Given the description of an element on the screen output the (x, y) to click on. 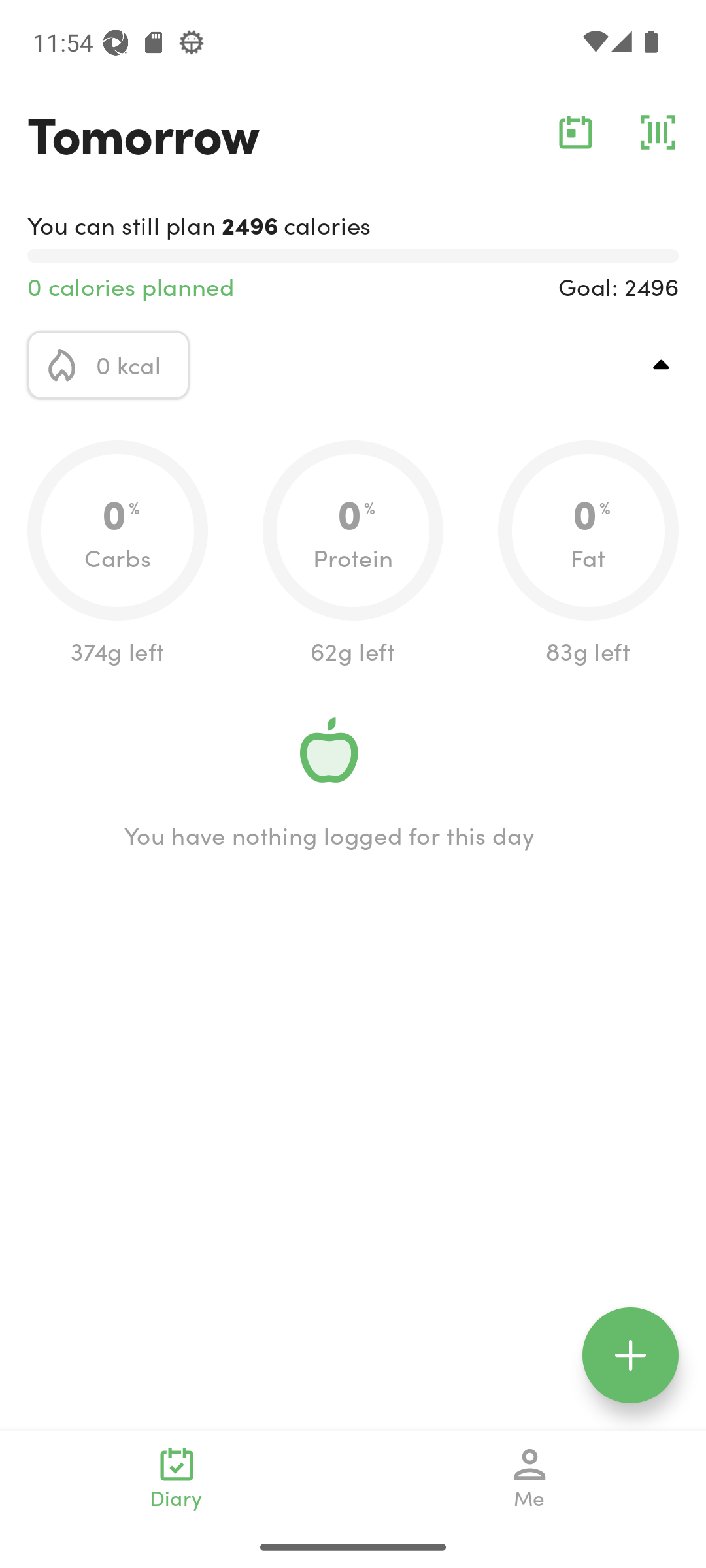
calendar_action (575, 132)
barcode_action (658, 132)
calorie_icon 0 kcal (108, 365)
top_right_action (661, 365)
0.0 0 % Carbs 374g left (117, 553)
0.0 0 % Protein 62g left (352, 553)
0.0 0 % Fat 83g left (588, 553)
floating_action_icon (630, 1355)
Me navigation_icon (529, 1478)
